Given the description of an element on the screen output the (x, y) to click on. 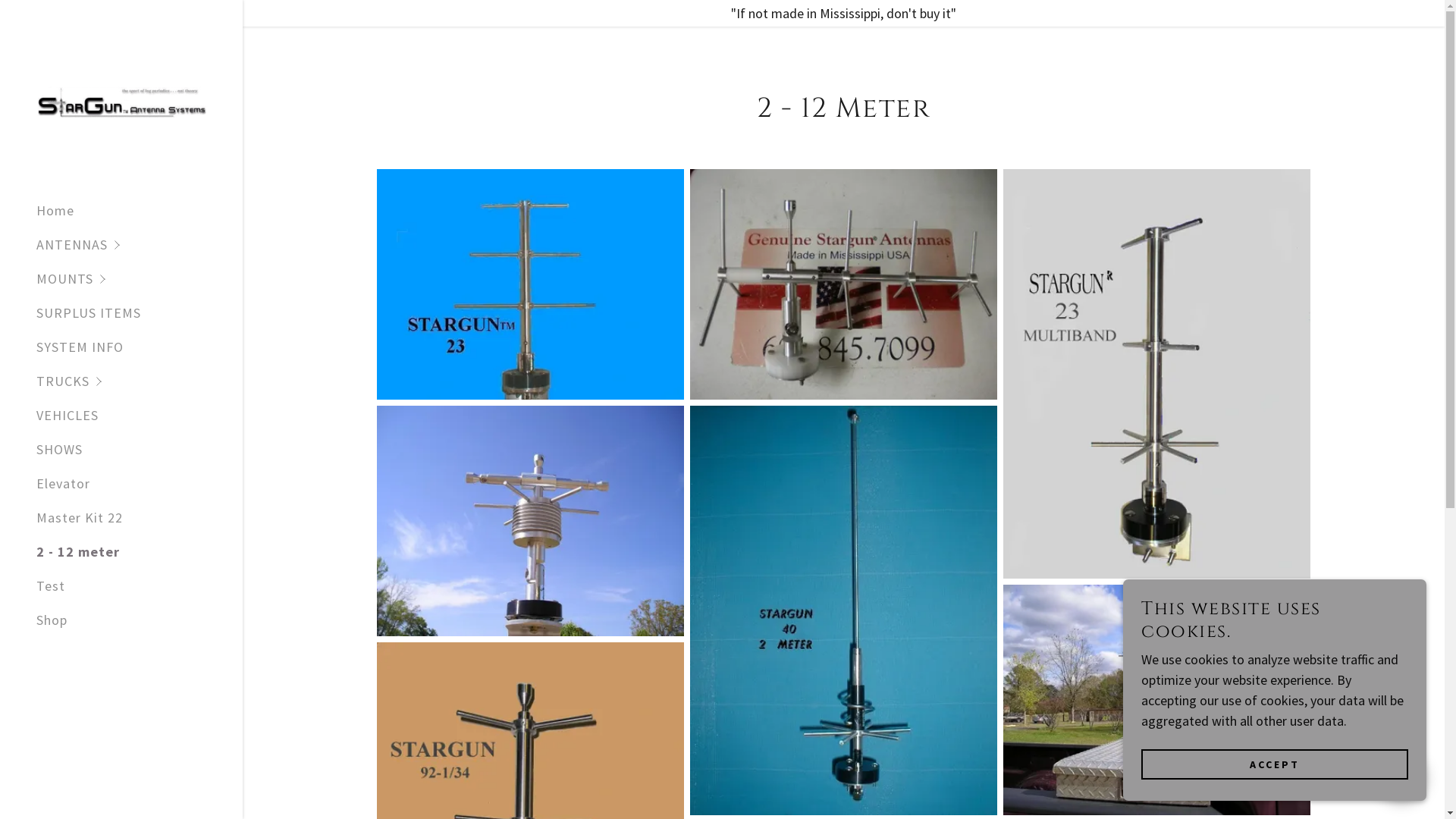
Shop Element type: text (51, 619)
SHOWS Element type: text (59, 449)
Master Kit 22 Element type: text (79, 517)
Test Element type: text (50, 585)
ACCEPT Element type: text (1274, 764)
Elevator Element type: text (63, 483)
TRUCKS Element type: text (139, 381)
SYSTEM INFO Element type: text (79, 346)
2 - 12 meter Element type: text (77, 551)
SURPLUS ITEMS Element type: text (88, 312)
MOUNTS Element type: text (139, 278)
Home Element type: text (55, 210)
VEHICLES Element type: text (67, 414)
ANTENNAS Element type: text (139, 244)
